Given the description of an element on the screen output the (x, y) to click on. 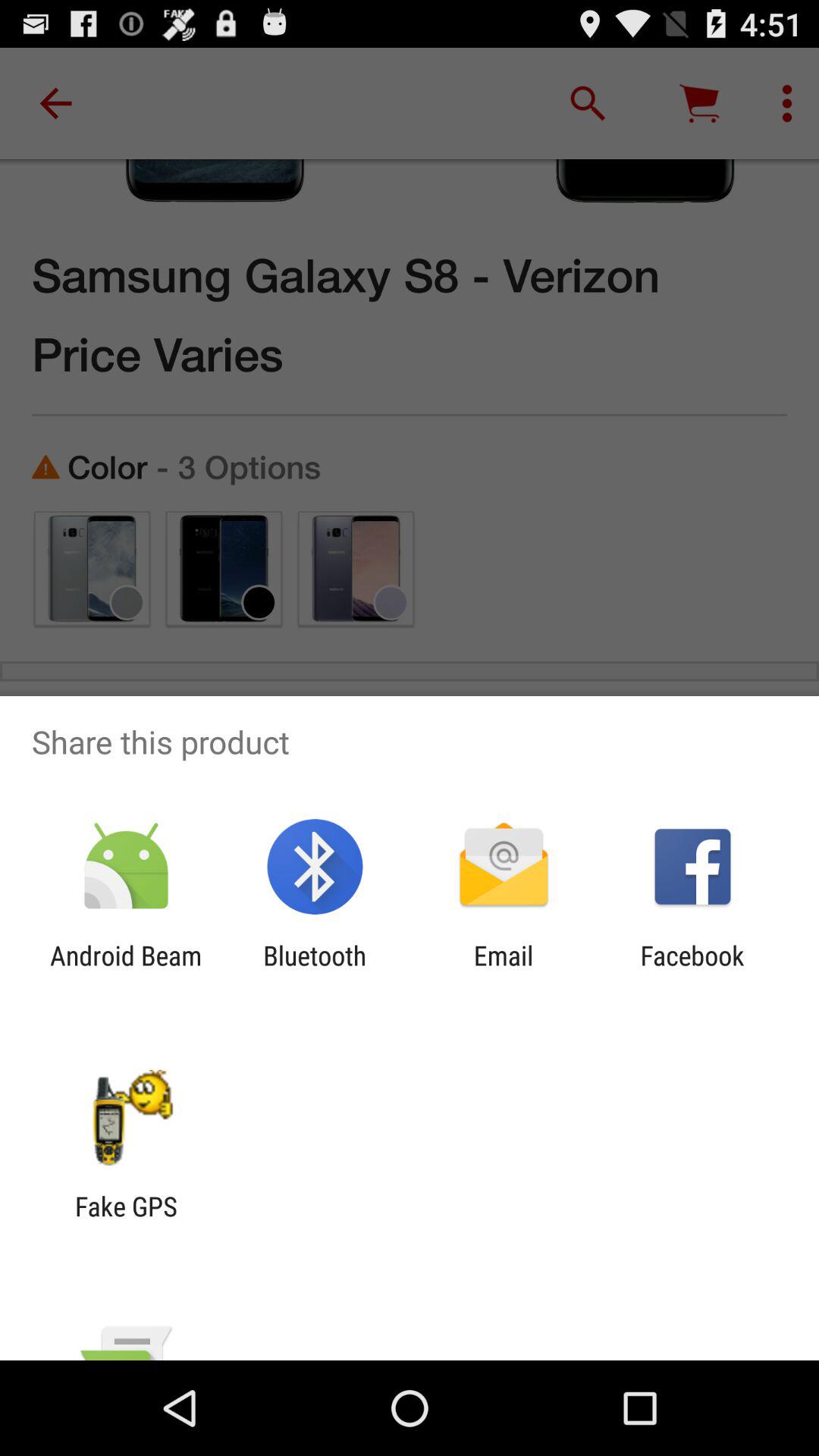
press icon next to the facebook icon (503, 971)
